Given the description of an element on the screen output the (x, y) to click on. 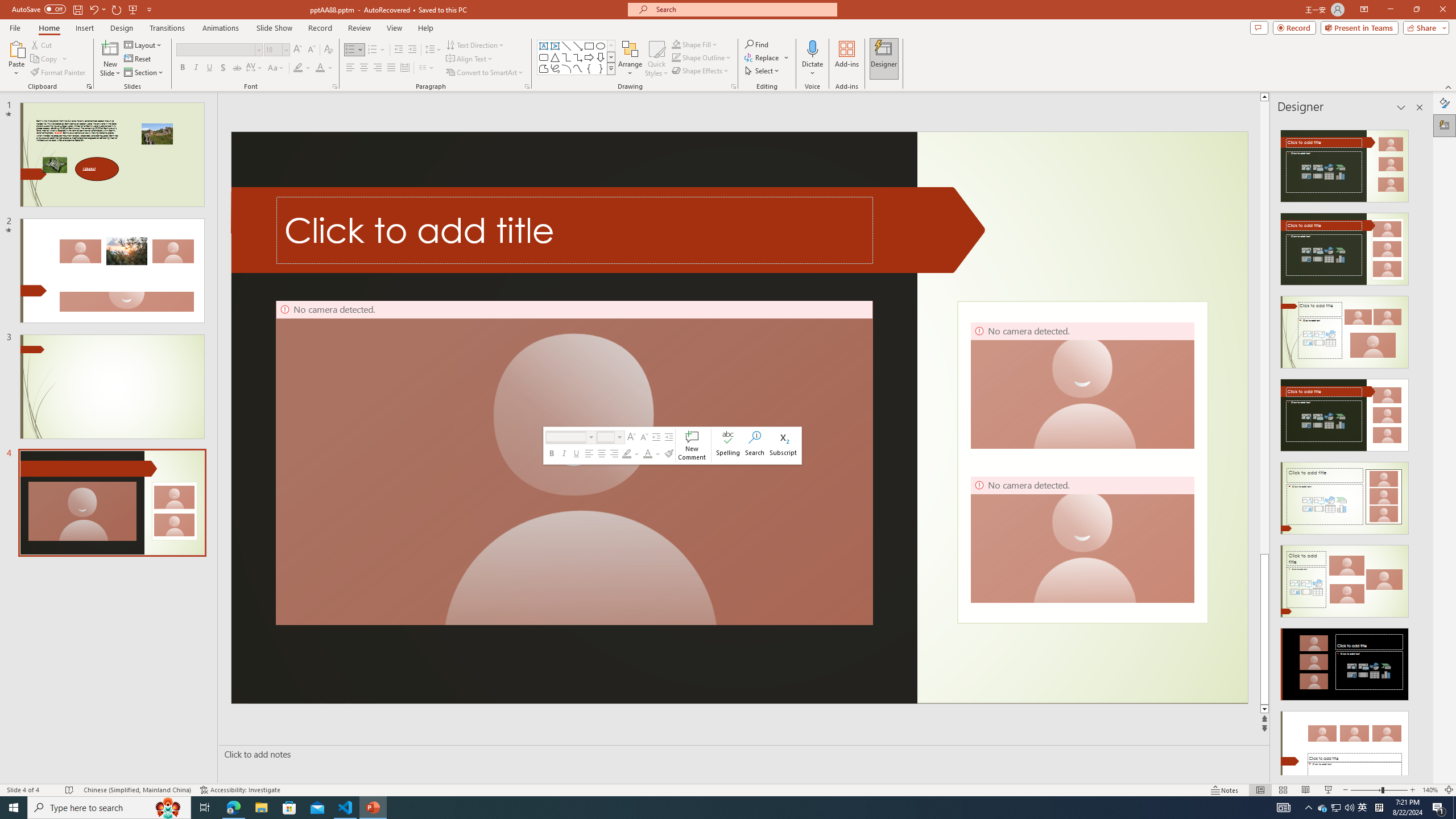
Select (762, 69)
Open (285, 49)
Dictate (812, 58)
Slide Show (273, 28)
New Slide (110, 58)
File Tab (15, 27)
Increase Font Size (297, 49)
Center (363, 67)
Camera 4, No camera detected. (1082, 539)
Numbering (372, 49)
Quick Styles (656, 58)
Arrow: Down (600, 57)
Record (1294, 27)
Font... (334, 85)
Accessibility Checker Accessibility: Investigate (240, 790)
